Given the description of an element on the screen output the (x, y) to click on. 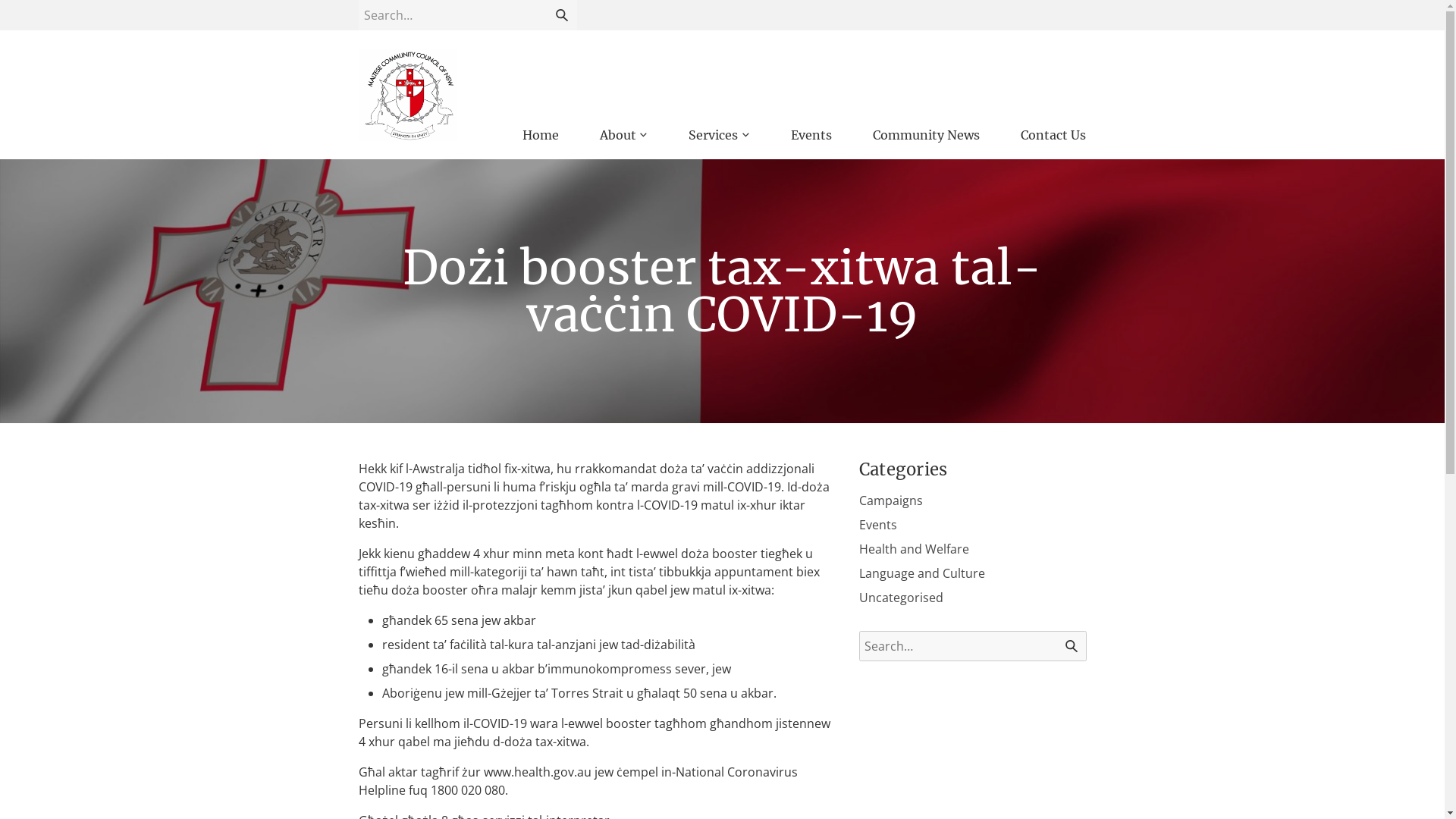
Campaigns Element type: text (890, 500)
Search Element type: hover (1070, 645)
About Element type: text (623, 134)
Language and Culture Element type: text (921, 572)
Uncategorised Element type: text (900, 597)
Contact Us Element type: text (1052, 134)
Community News Element type: text (925, 134)
Home Element type: text (539, 134)
Services Element type: text (718, 134)
Search Element type: hover (561, 15)
Health and Welfare Element type: text (913, 548)
Events Element type: text (877, 524)
Events Element type: text (810, 134)
